Given the description of an element on the screen output the (x, y) to click on. 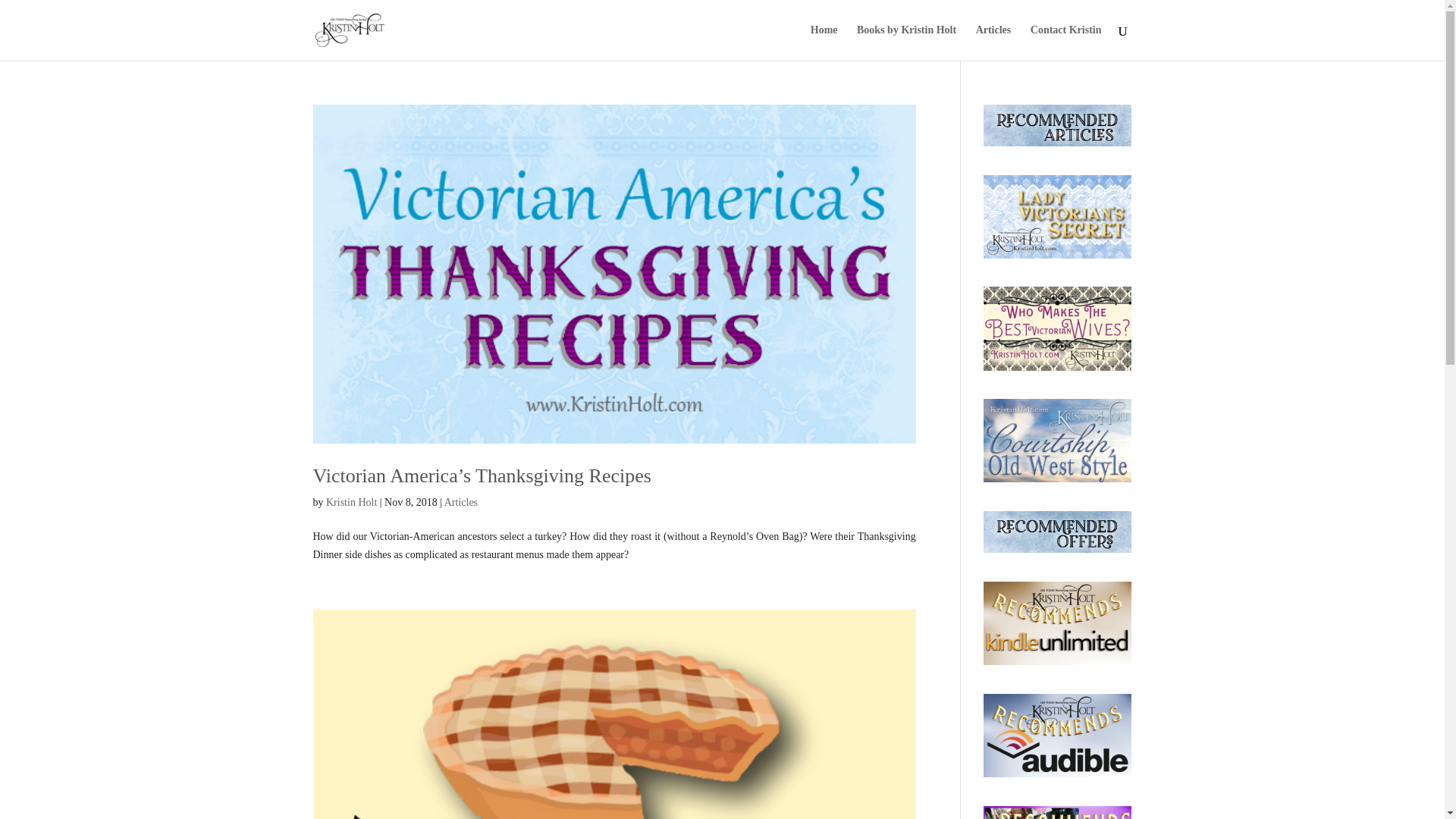
Kristin Holt (351, 501)
Articles (993, 42)
Contact Kristin (1066, 42)
Articles (460, 501)
Posts by Kristin Holt (351, 501)
Books by Kristin Holt (906, 42)
